Given the description of an element on the screen output the (x, y) to click on. 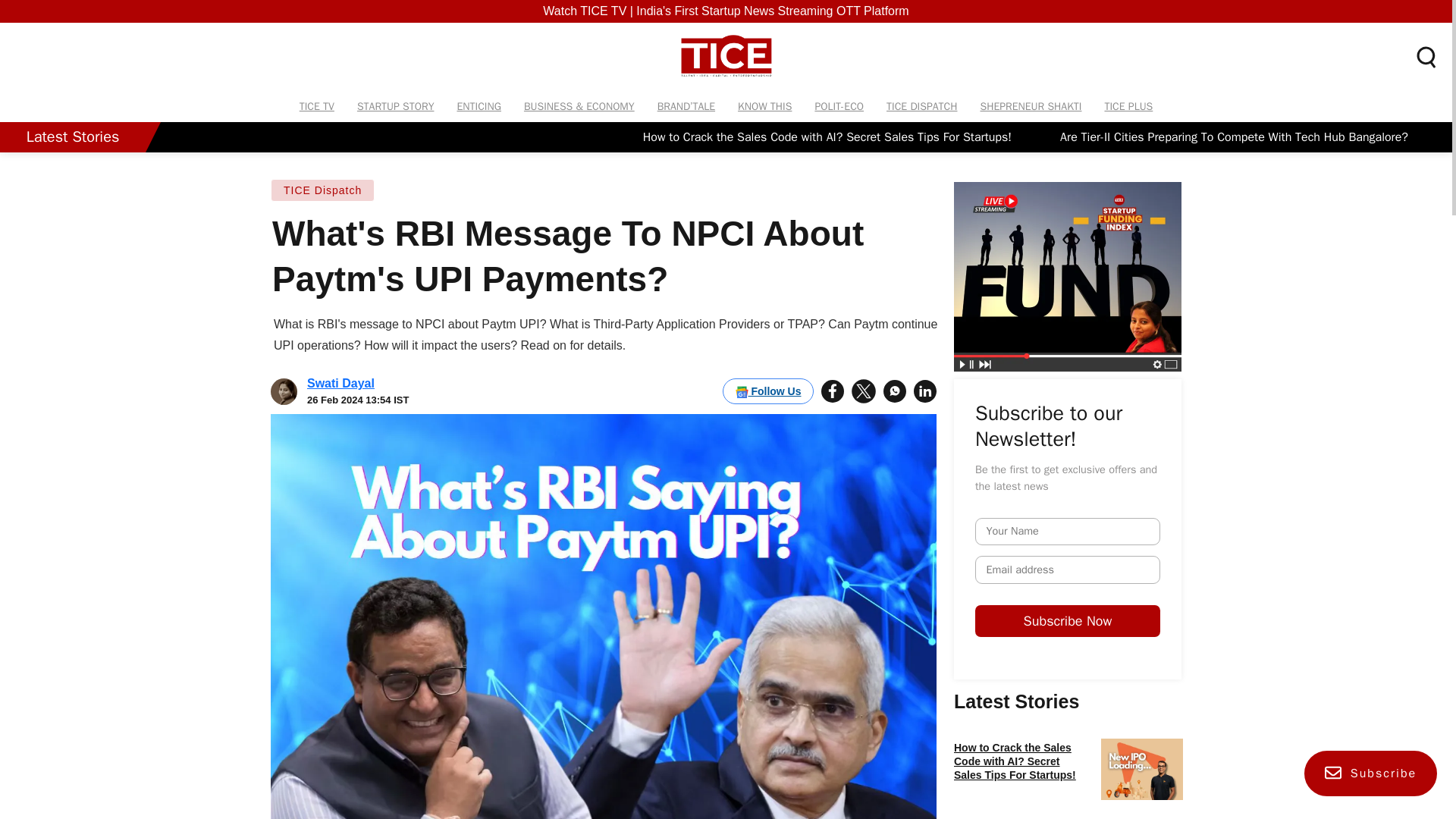
Swati Dayal (340, 382)
TICE DISPATCH (921, 106)
KNOW THIS (764, 106)
TICE Dispatch (322, 190)
TICE TV (317, 106)
POLIT-ECO (839, 106)
SHEPRENEUR SHAKTI (1030, 106)
Follow Us (767, 391)
ENTICING (478, 106)
TICE PLUS (1128, 106)
